Given the description of an element on the screen output the (x, y) to click on. 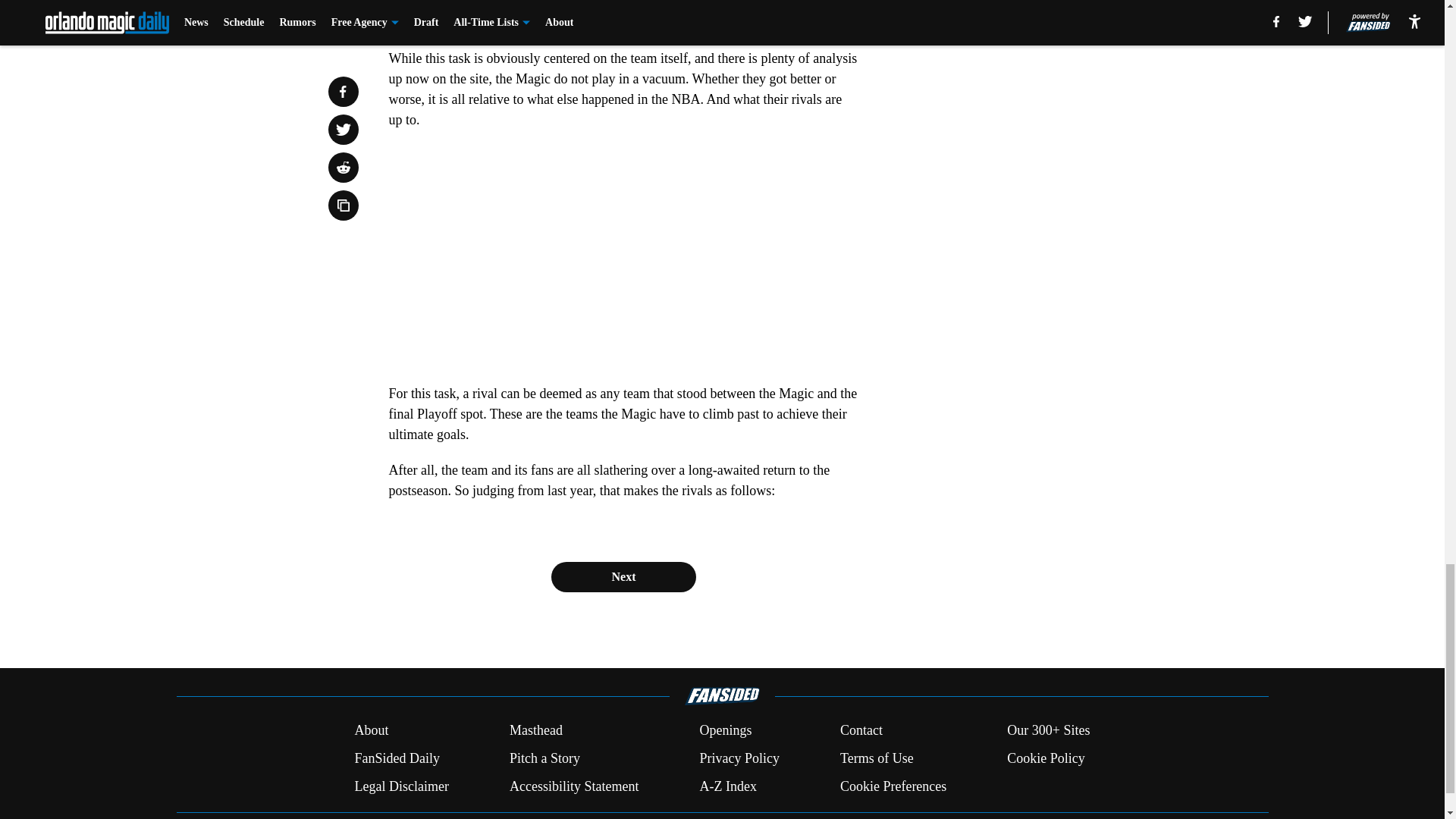
a clue to the future (614, 4)
Openings (724, 730)
Next (622, 576)
Masthead (535, 730)
About (370, 730)
